Given the description of an element on the screen output the (x, y) to click on. 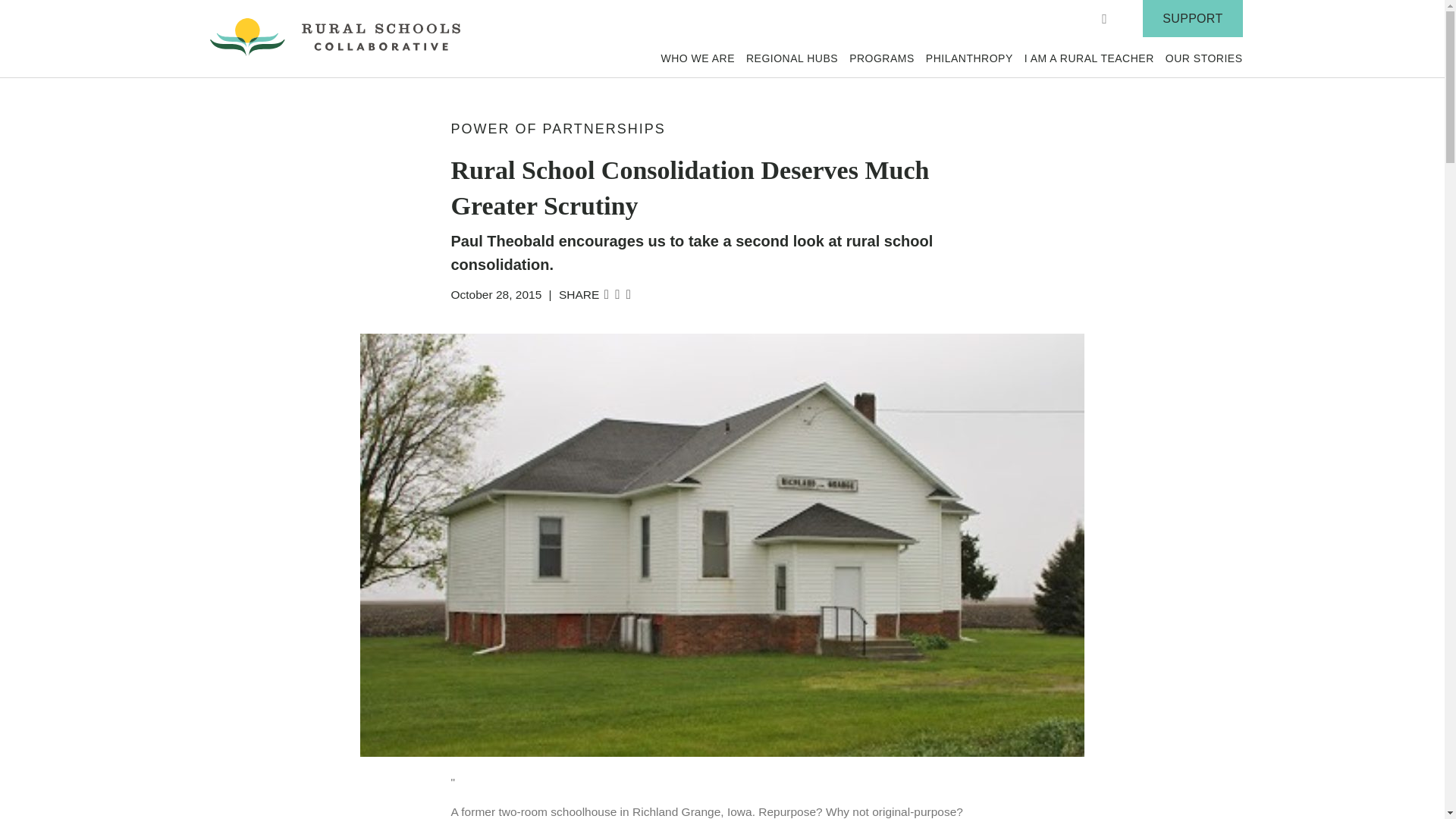
SUPPORT (1191, 18)
PROGRAMS (881, 58)
OUR STORIES (1204, 58)
WHO WE ARE (698, 58)
POWER OF PARTNERSHIPS (557, 128)
REGIONAL HUBS (791, 58)
PHILANTHROPY (969, 58)
I AM A RURAL TEACHER (1089, 58)
